Given the description of an element on the screen output the (x, y) to click on. 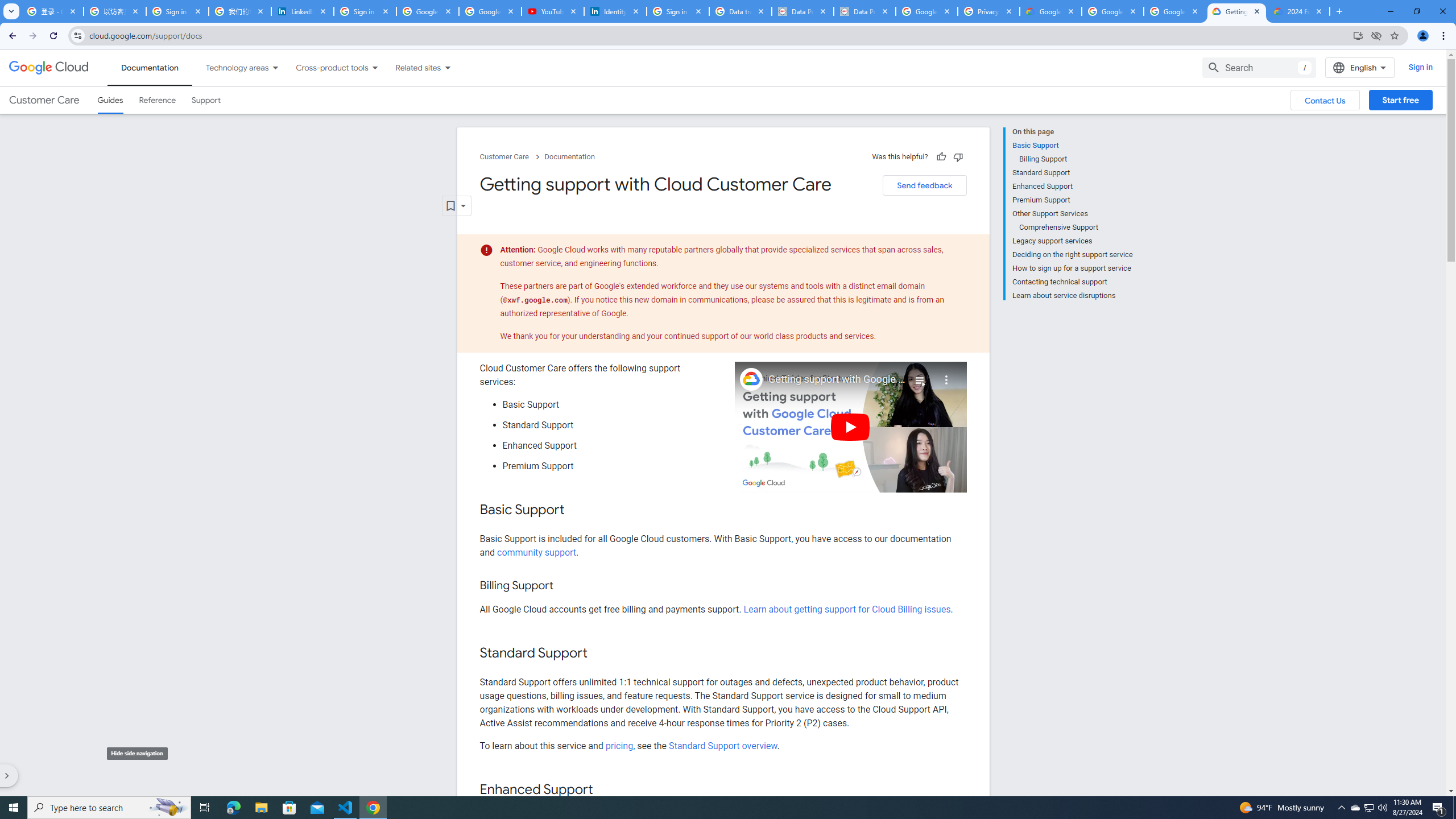
Learn about getting support for Cloud Billing issues (847, 609)
Deciding on the right support service (1071, 254)
Photo image of Google Cloud Tech (750, 378)
Copy link to this section: Basic Support (576, 510)
Legacy support services (1071, 241)
Identity verification via Persona | LinkedIn Help (615, 11)
Reference (157, 99)
Google Cloud (48, 67)
Customer Care chevron_right (511, 156)
